Given the description of an element on the screen output the (x, y) to click on. 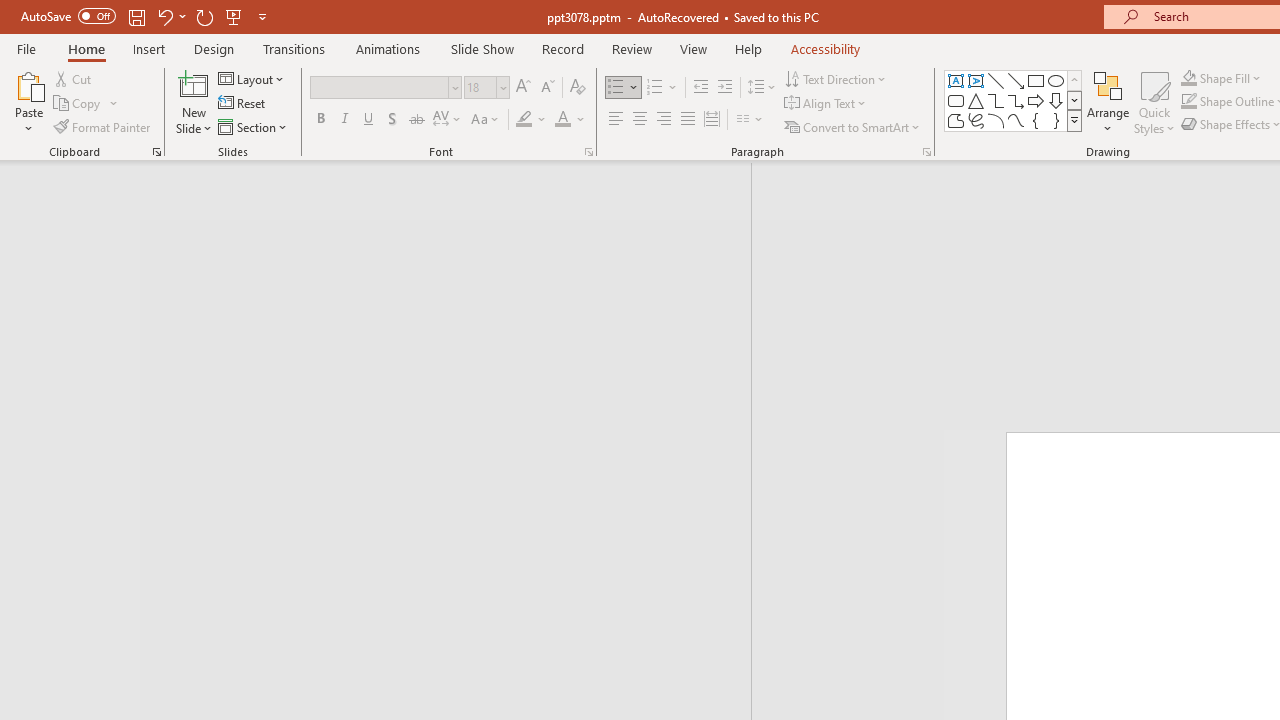
Shapes (1074, 120)
Align Text (826, 103)
New Slide (193, 102)
Right Brace (1055, 120)
Font Color Red (562, 119)
Shape Fill Dark Green, Accent 2 (1188, 78)
Copy (78, 103)
Curve (1016, 120)
Font (385, 87)
Justify (687, 119)
Font Size (486, 87)
Increase Font Size (522, 87)
